Given the description of an element on the screen output the (x, y) to click on. 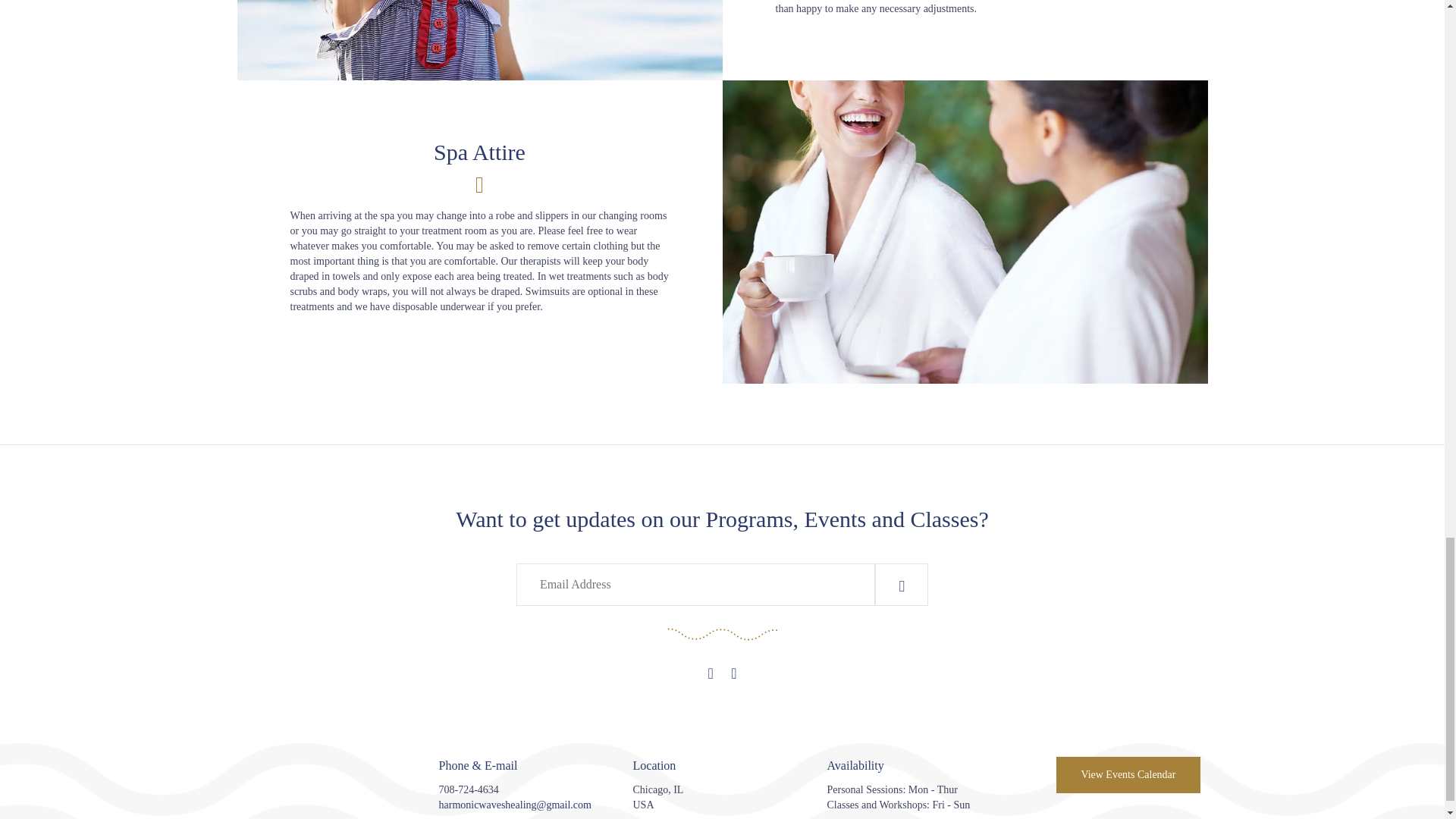
goldwave2 (720, 633)
View Events Calendar (1128, 774)
footericon-01 (333, 791)
